Given the description of an element on the screen output the (x, y) to click on. 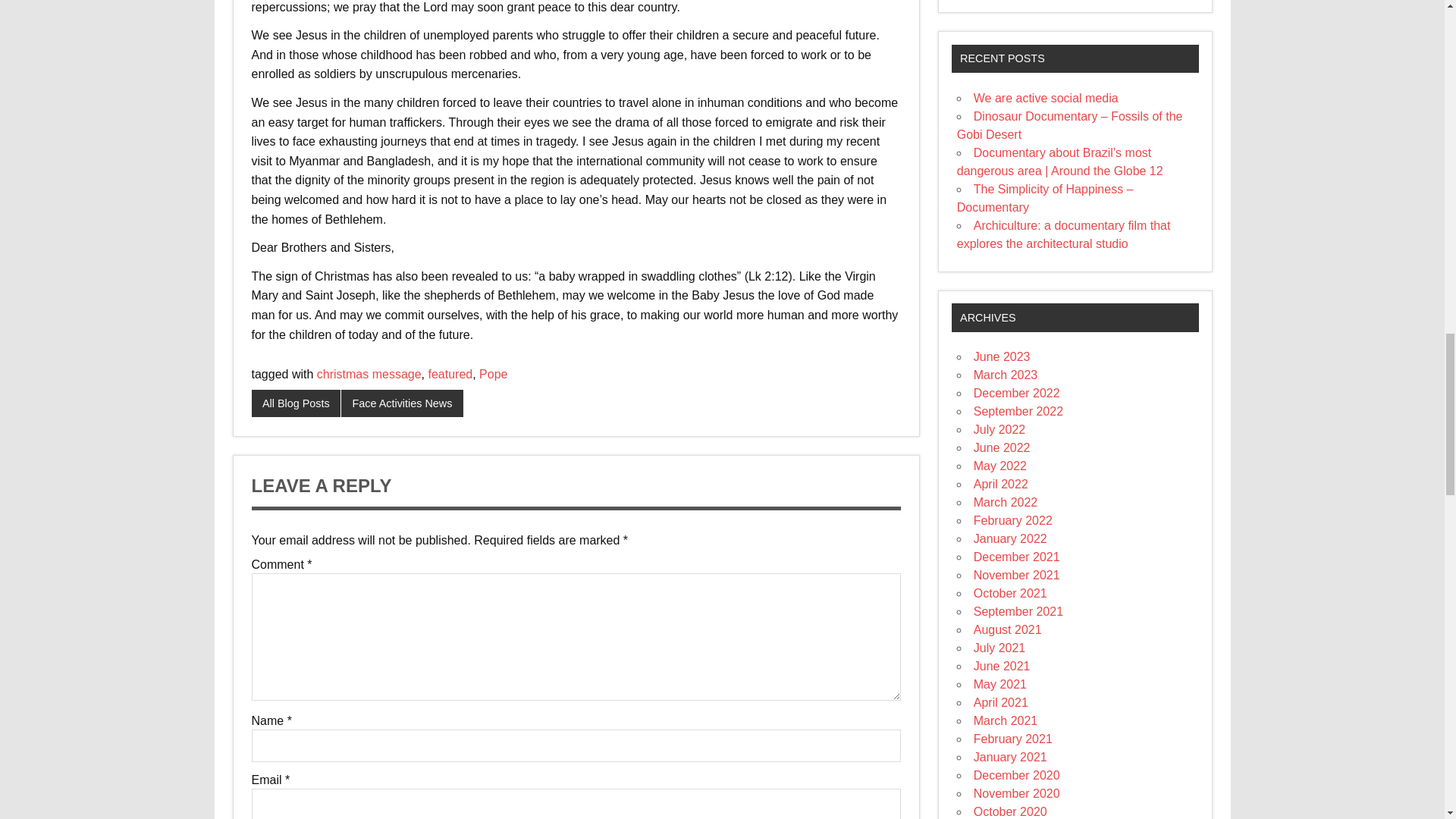
featured (449, 373)
Pope (492, 373)
christmas message (369, 373)
Face Activities News (401, 402)
All Blog Posts (295, 402)
